Given the description of an element on the screen output the (x, y) to click on. 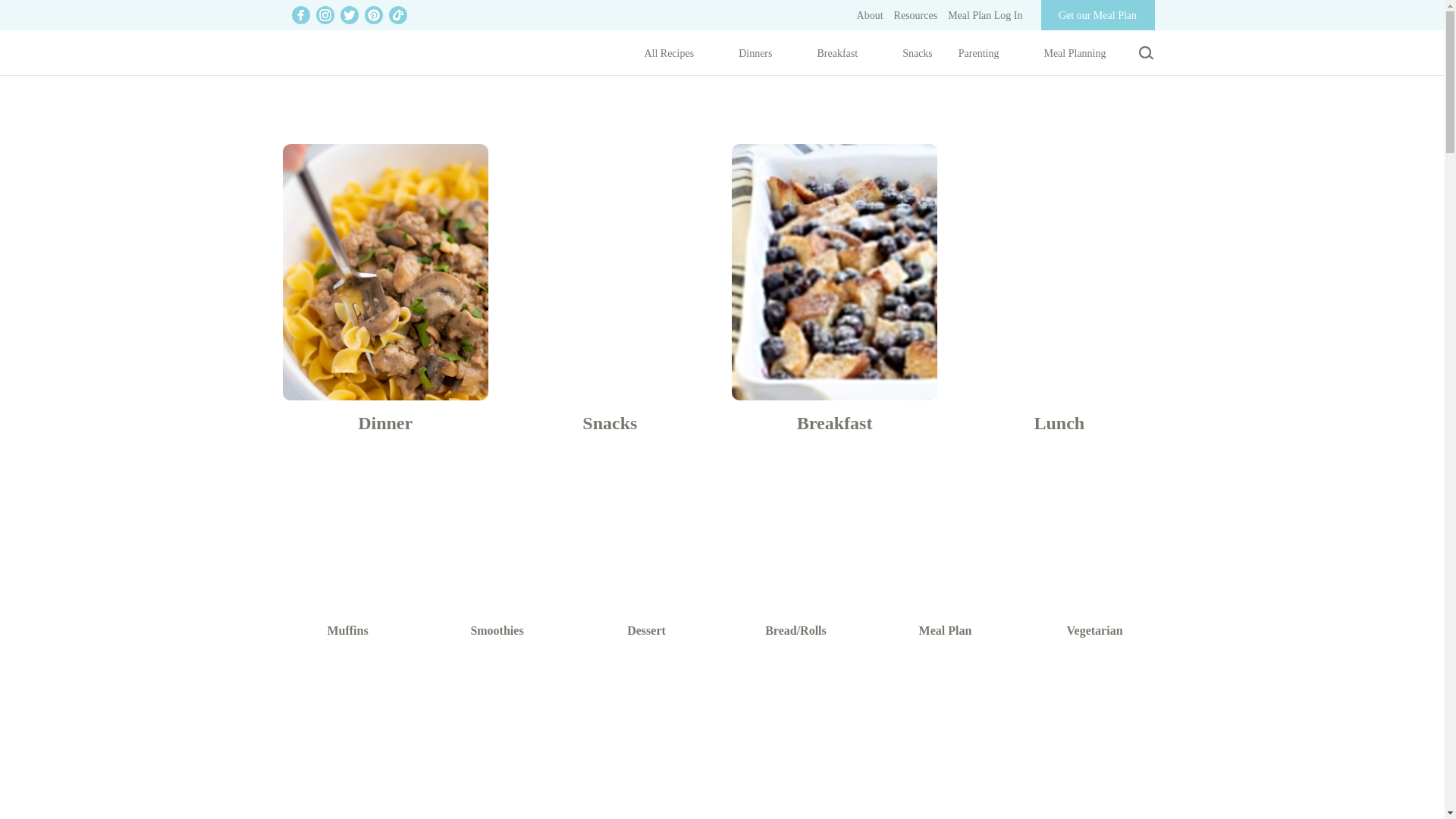
Meal Plan Log In (984, 15)
About (870, 15)
All Recipes (677, 56)
Get our Meal Plan (1093, 15)
Resources (915, 15)
